Given the description of an element on the screen output the (x, y) to click on. 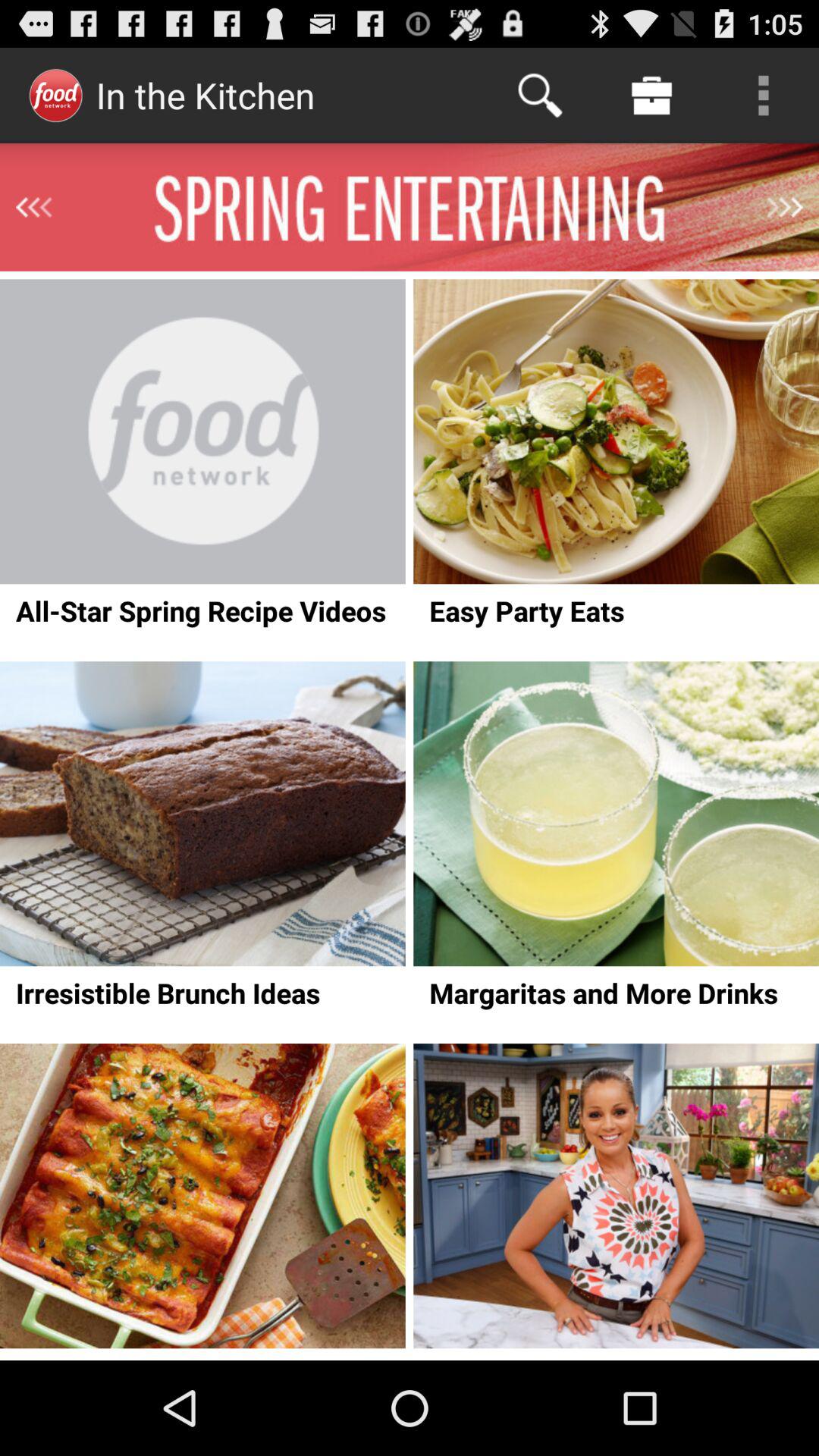
go to next (785, 207)
